Given the description of an element on the screen output the (x, y) to click on. 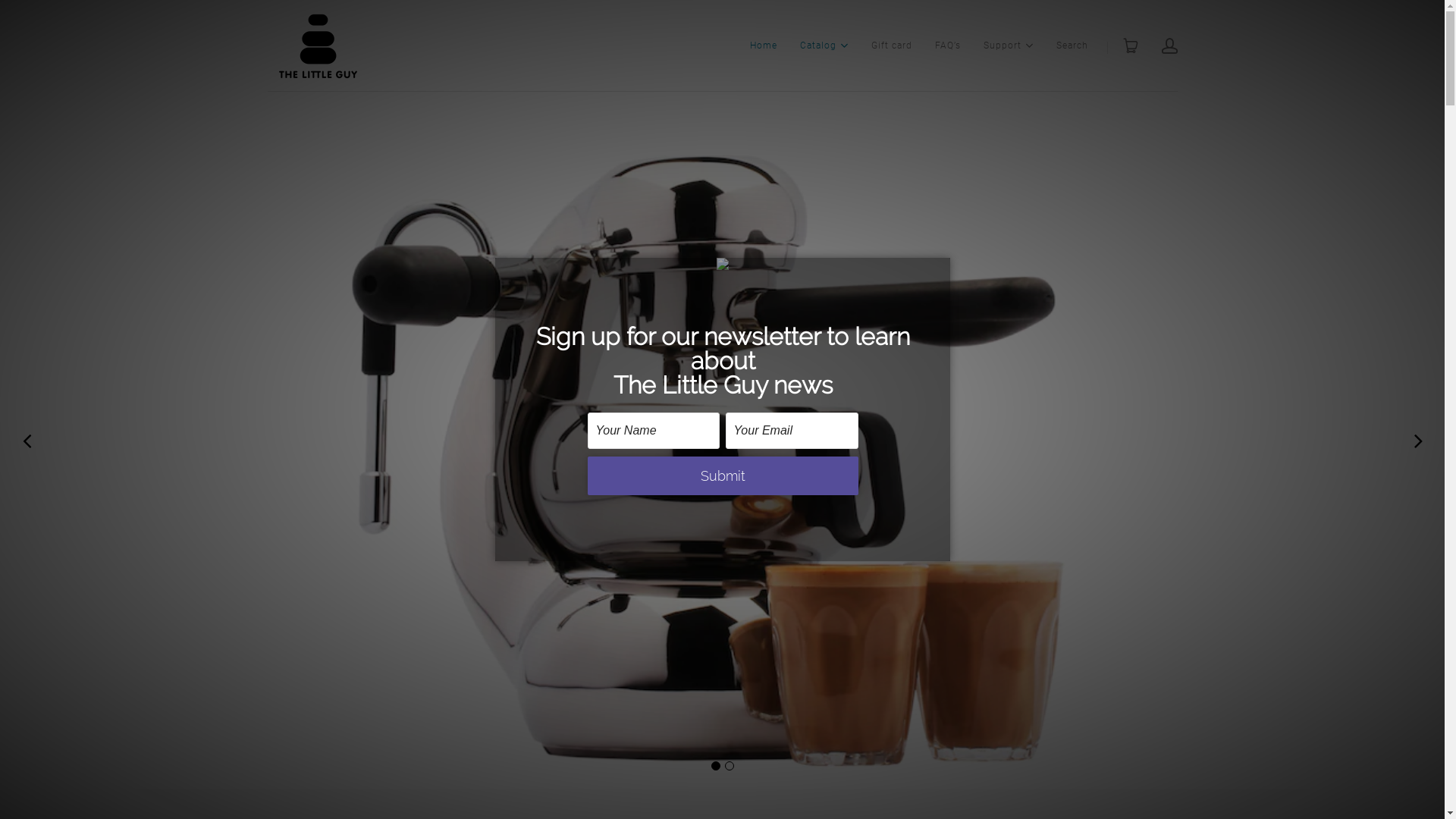
Search Element type: text (1071, 45)
Home Element type: text (762, 45)
Gift card Element type: text (890, 45)
